Given the description of an element on the screen output the (x, y) to click on. 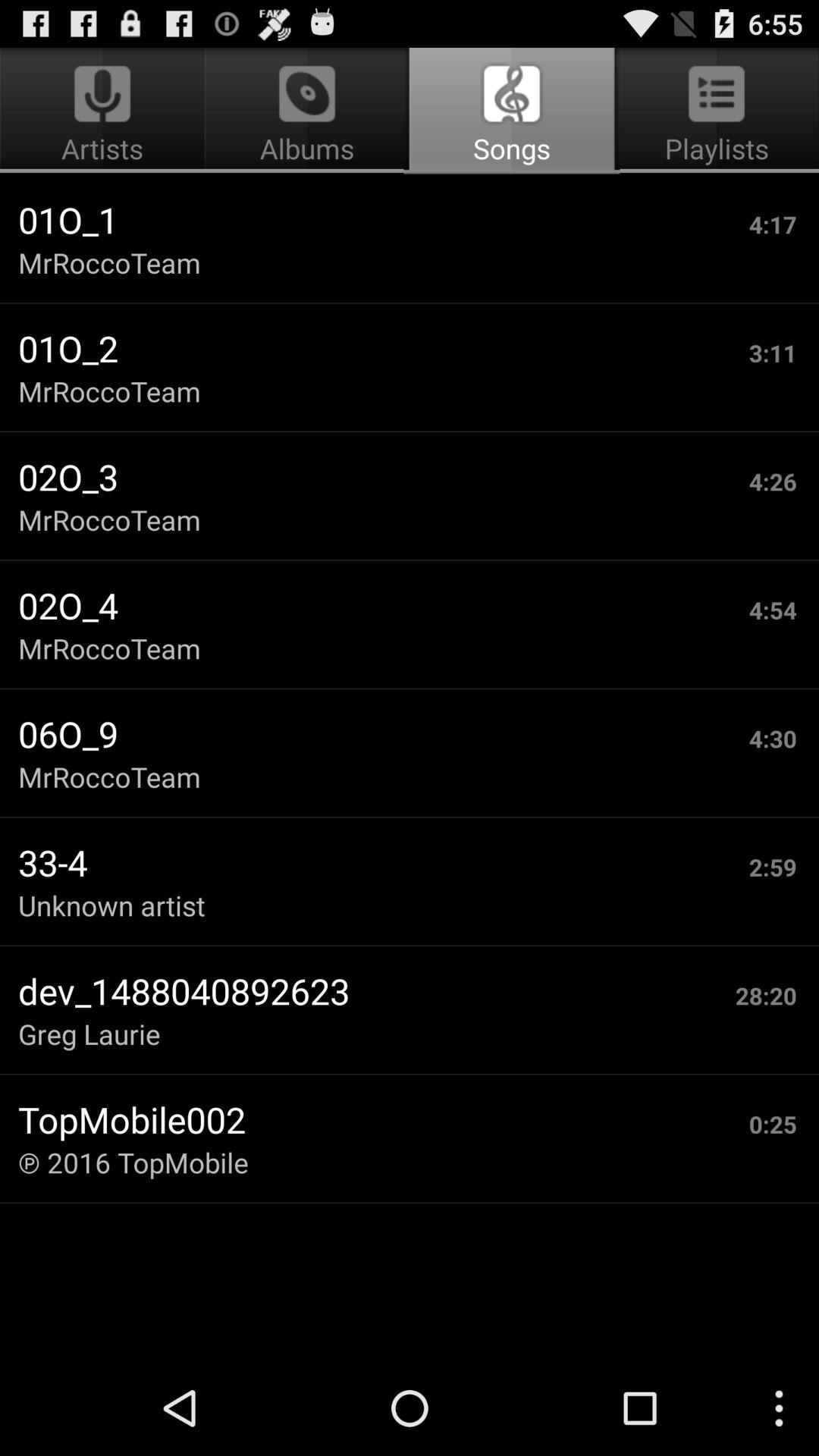
turn on artists icon (105, 111)
